Given the description of an element on the screen output the (x, y) to click on. 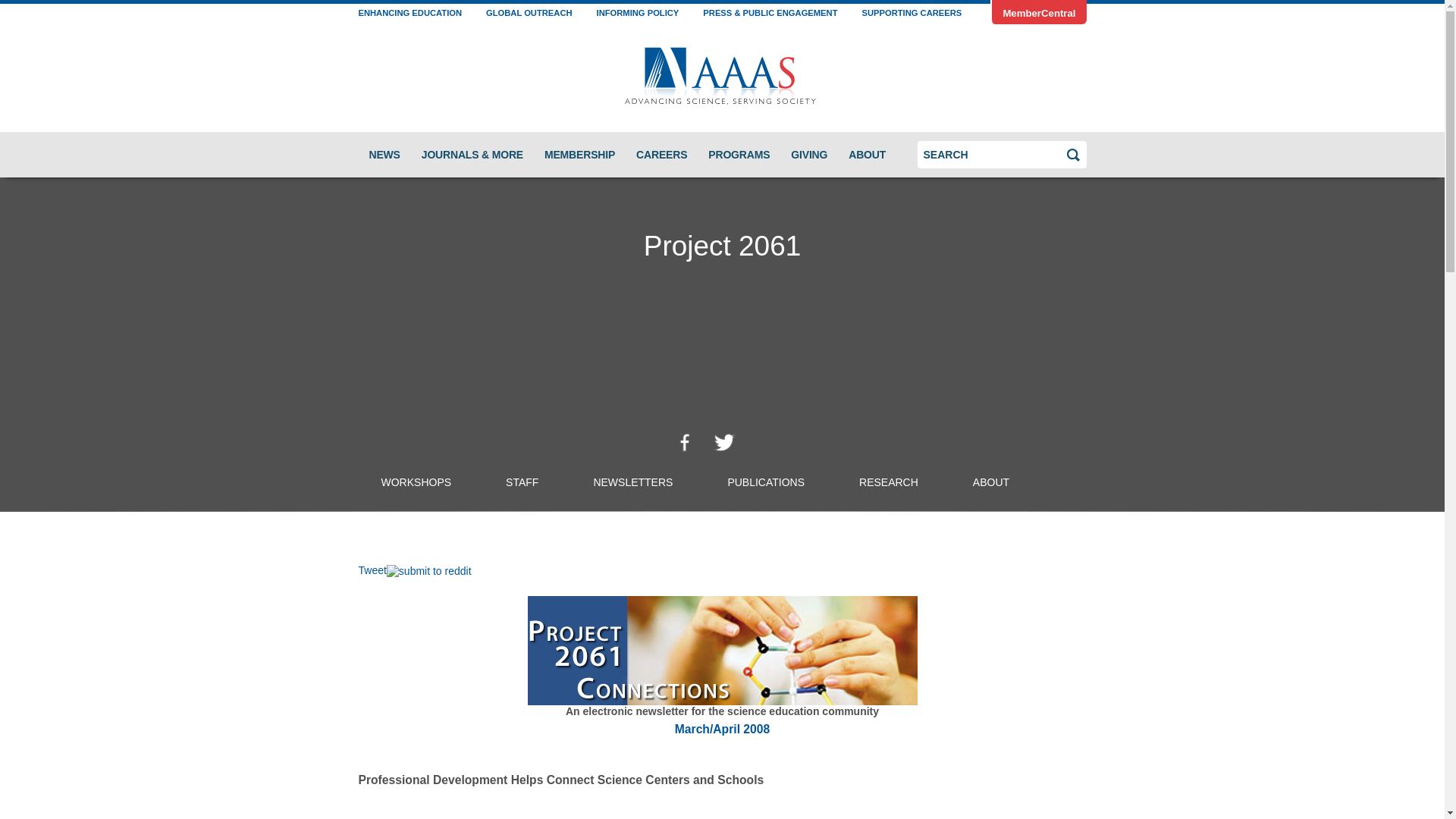
Home (722, 76)
Enter the terms you wish to search for. (990, 154)
SEARCH (973, 183)
Global Diplomacy (529, 13)
SUPPORTING CAREERS (910, 13)
STAFF (521, 482)
ABOUT (867, 154)
ENHANCING EDUCATION (409, 13)
MemberCentral (1038, 12)
NEWSLETTERS (632, 482)
PUBLICATIONS (765, 482)
Member Central (1038, 12)
Project 2061 (721, 245)
ABOUT (991, 482)
